Given the description of an element on the screen output the (x, y) to click on. 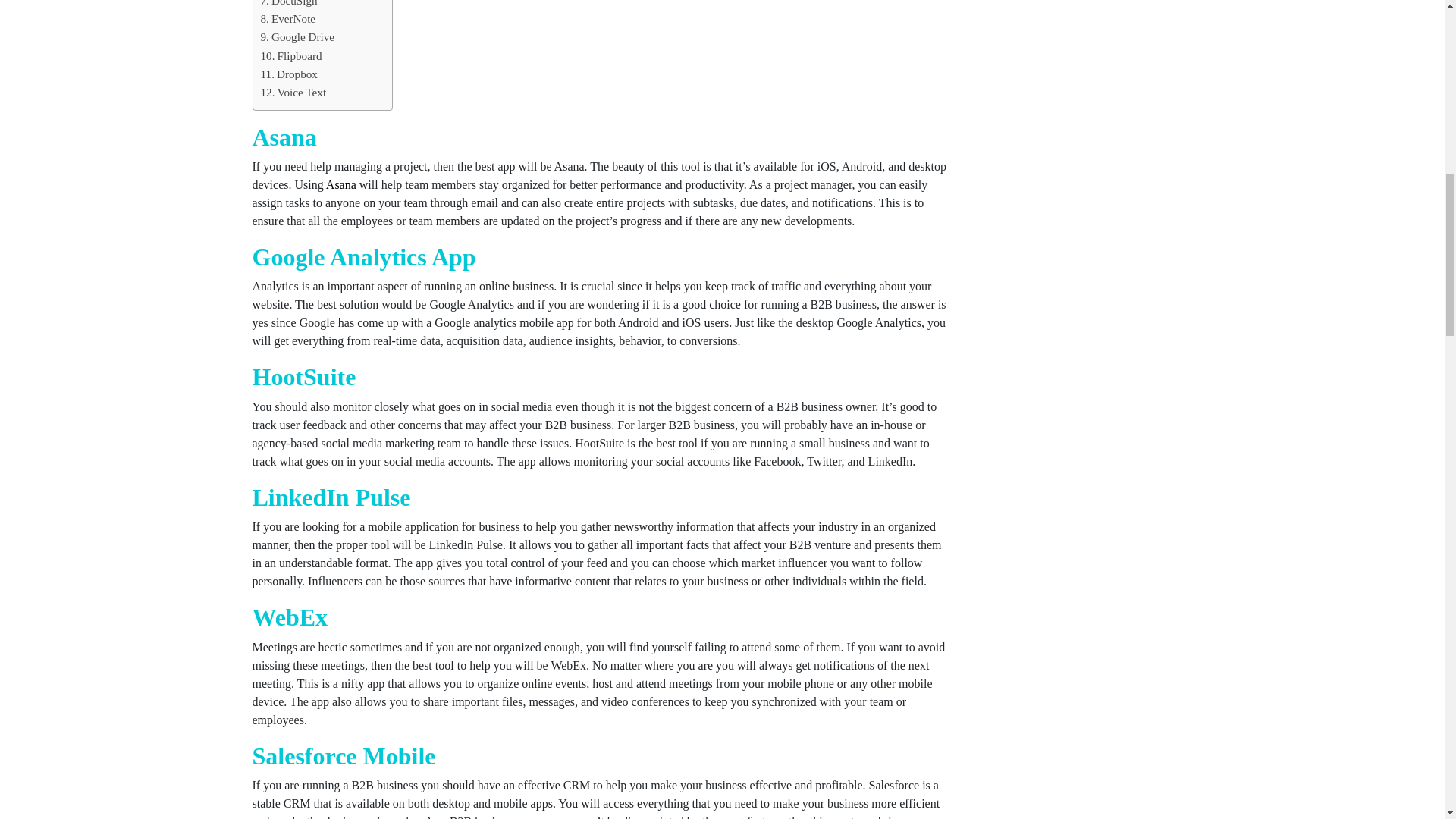
Dropbox (288, 74)
Flipboard (290, 55)
Voice Text (293, 92)
DocuSign (288, 4)
Google Drive (297, 36)
EverNote (287, 18)
